Given the description of an element on the screen output the (x, y) to click on. 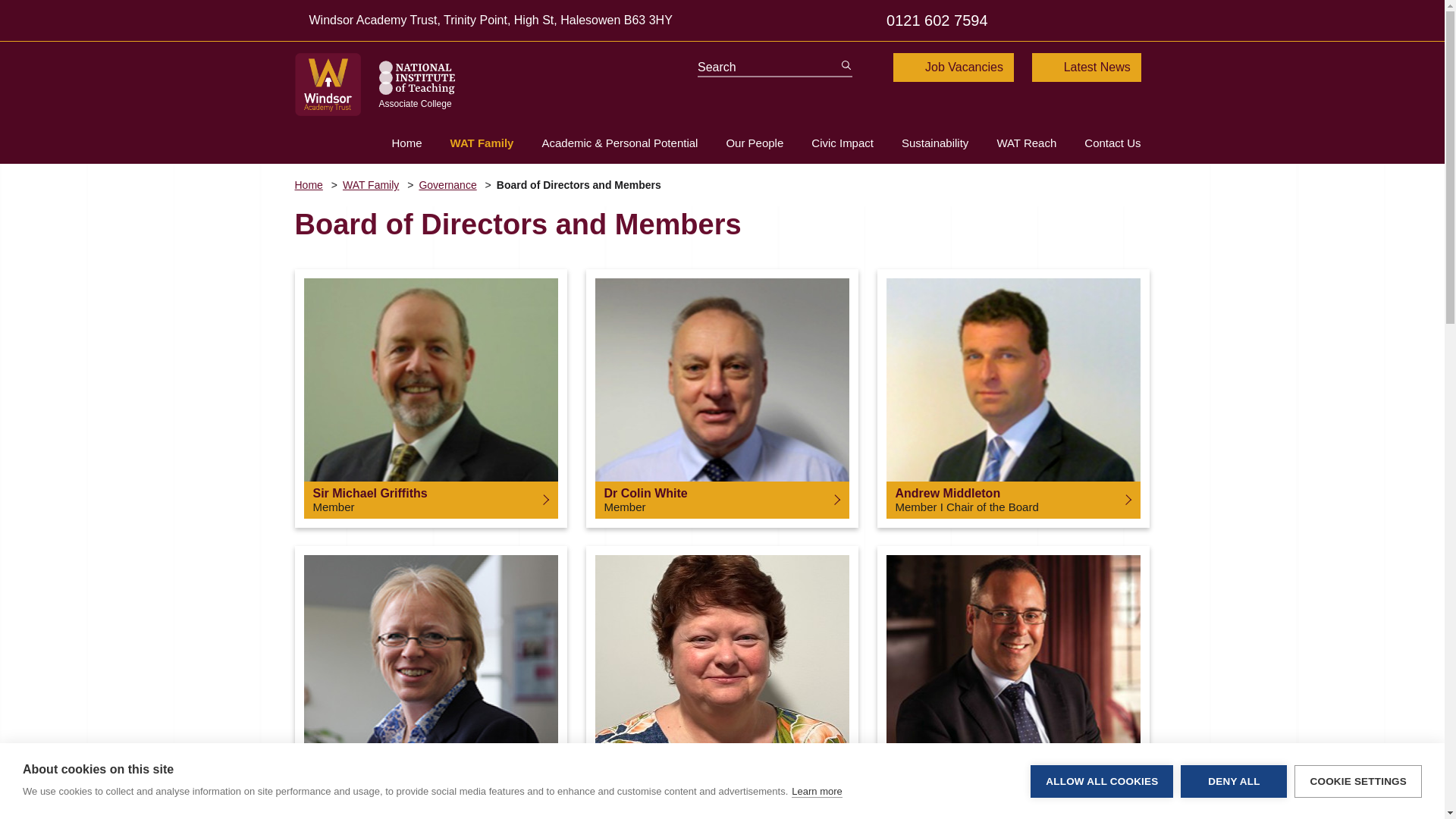
WAT Family (467, 143)
Civic Impact (828, 143)
0121 602 7594 (928, 20)
Job Vacancies (953, 67)
Latest News (1086, 67)
WAT Reach (1012, 143)
Search (840, 65)
Our People (740, 143)
Home (393, 143)
Contact Us (1098, 143)
Sustainability (920, 143)
